Given the description of an element on the screen output the (x, y) to click on. 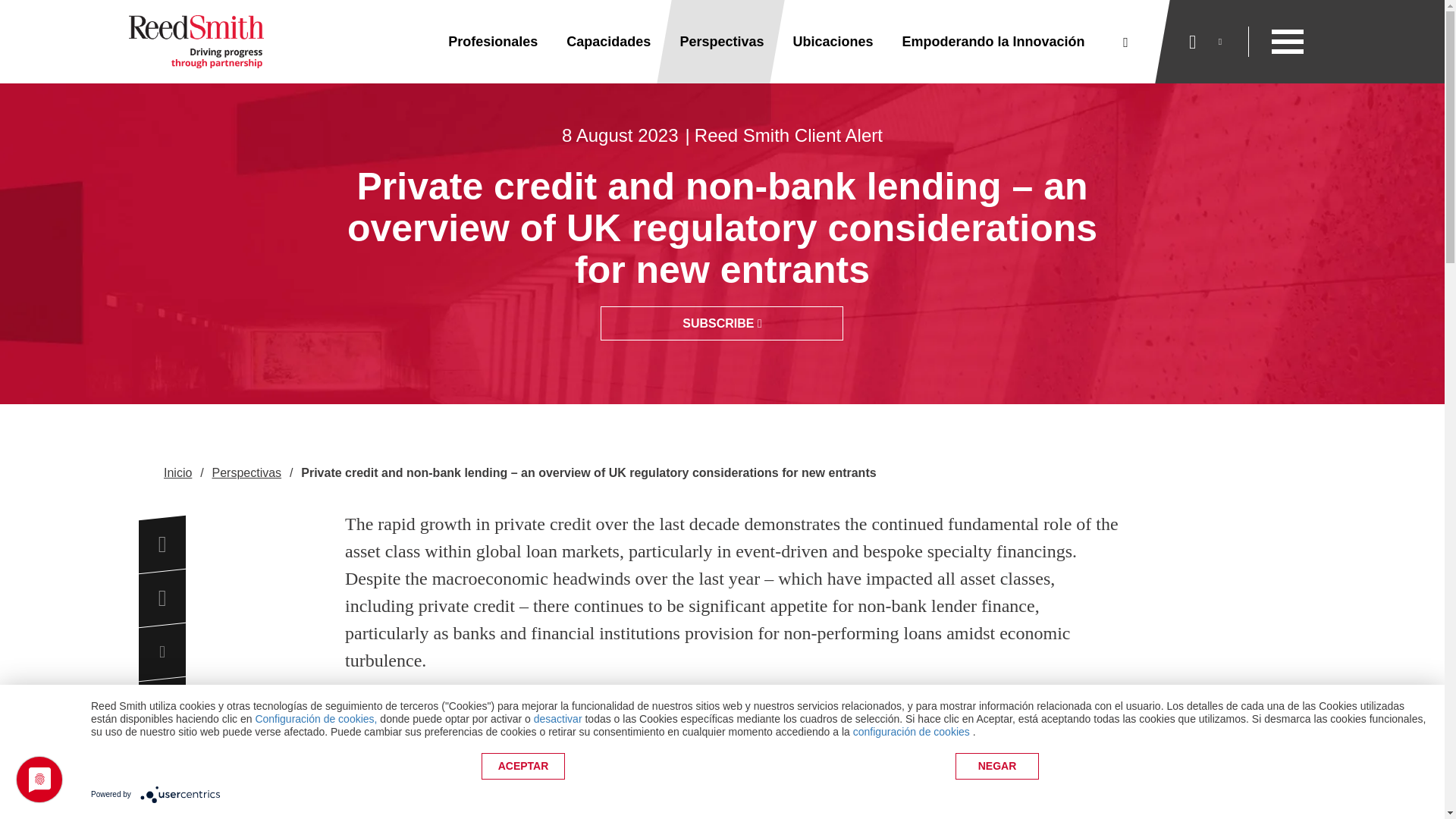
Capacidades (608, 41)
Profesionales (492, 41)
